Given the description of an element on the screen output the (x, y) to click on. 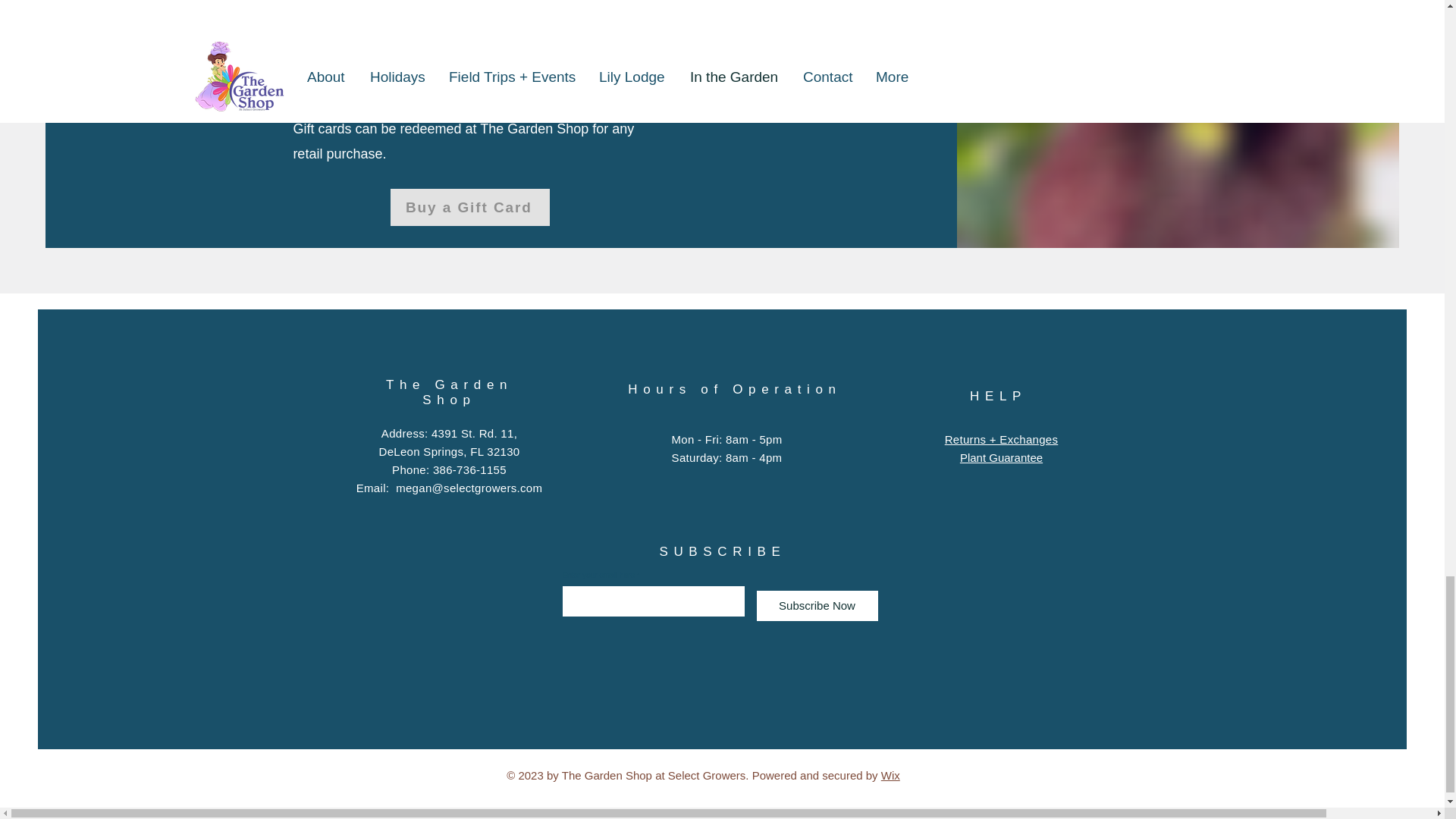
Plant Guarantee (1000, 457)
Wix (889, 775)
Subscribe Now (817, 605)
Buy a Gift Card (470, 207)
